Given the description of an element on the screen output the (x, y) to click on. 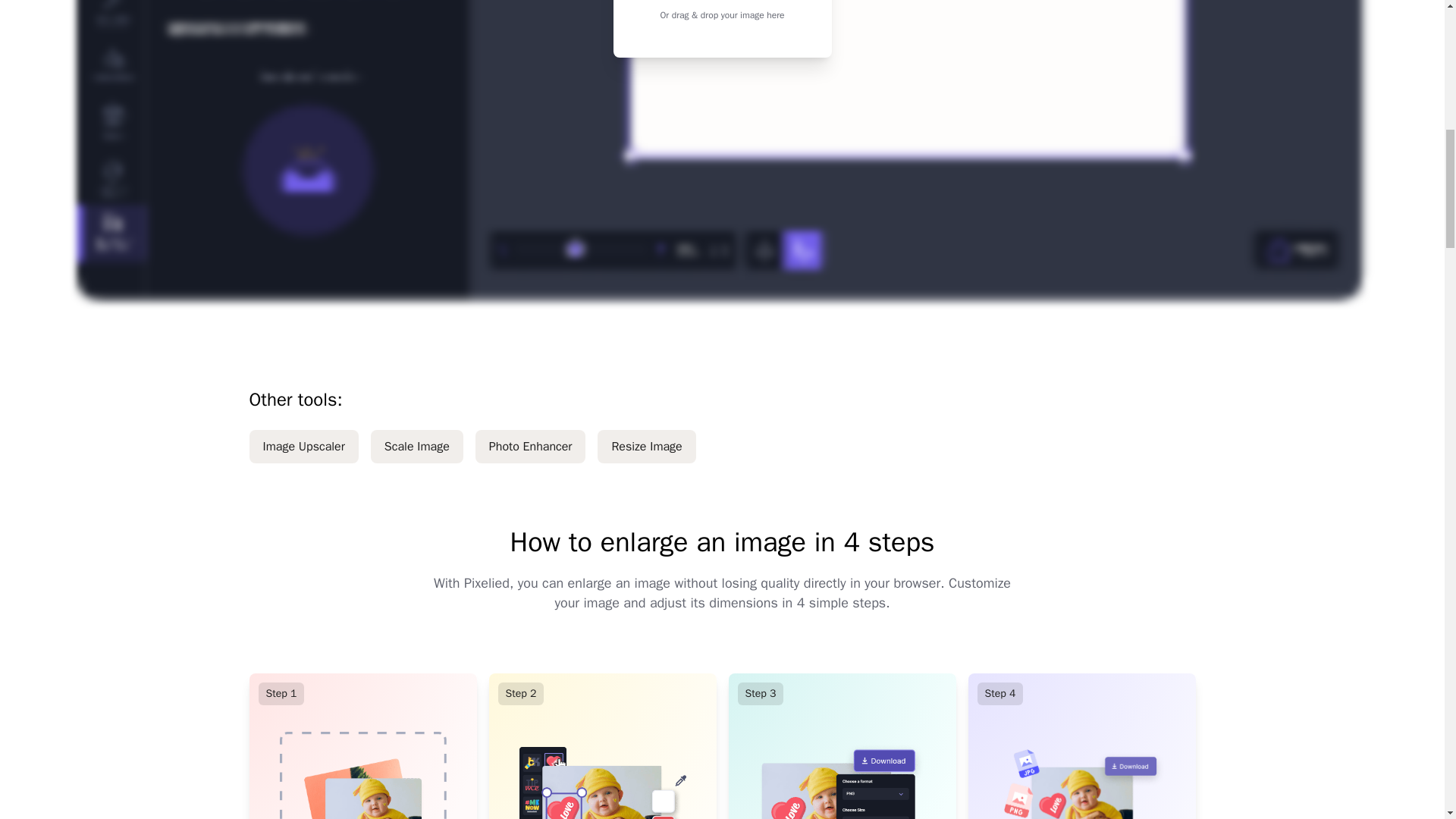
Photo Enhancer (531, 445)
Scale Image (417, 445)
Resize Image (645, 445)
Image Upscaler (303, 445)
